Given the description of an element on the screen output the (x, y) to click on. 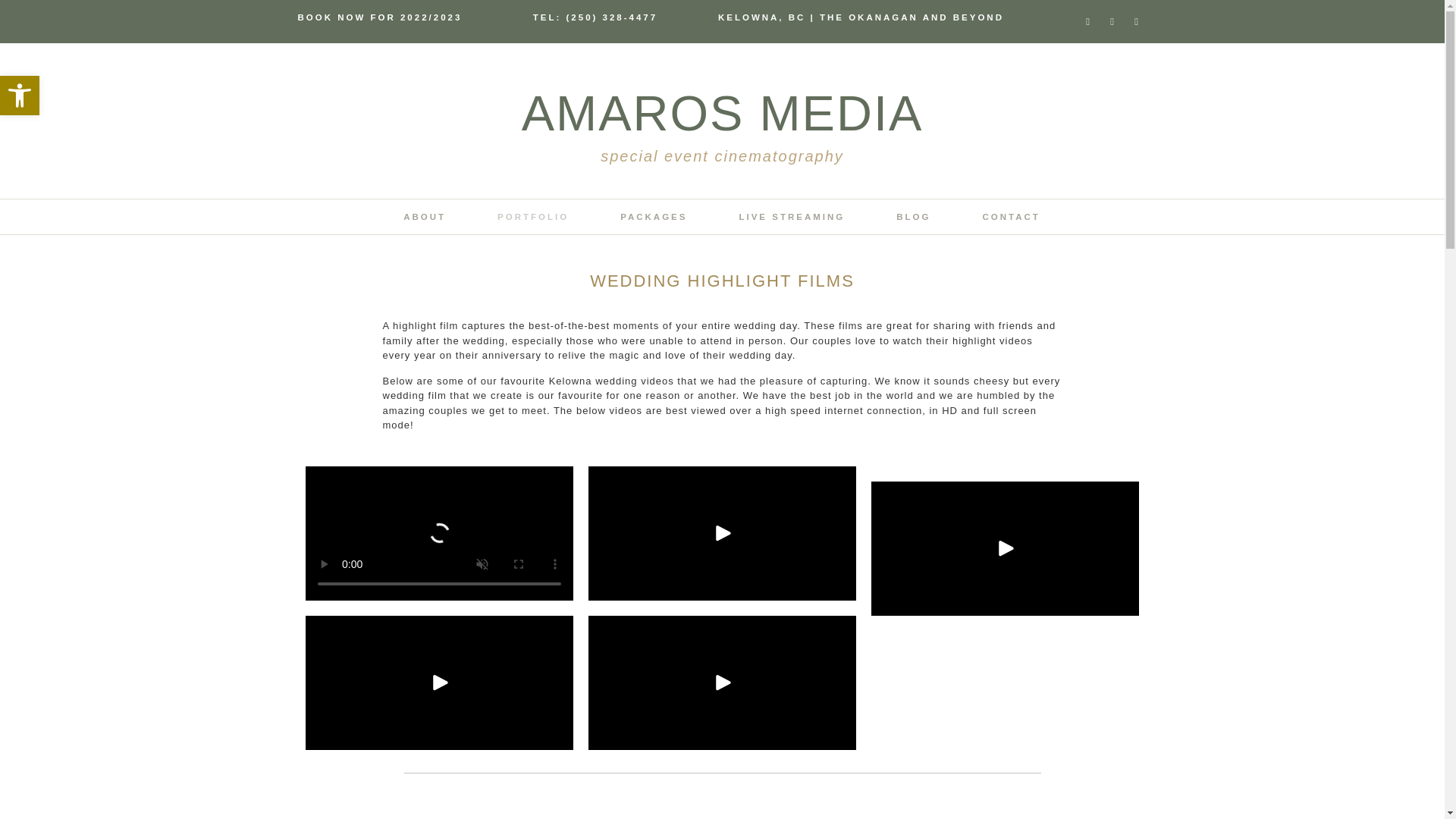
AMAROS MEDIA (722, 112)
Accessibility Tools (19, 95)
Accessibility Tools (19, 95)
PACKAGES (19, 95)
PORTFOLIO (653, 216)
ABOUT (532, 216)
LIVE STREAMING (424, 216)
BLOG (791, 216)
CONTACT (913, 216)
